Given the description of an element on the screen output the (x, y) to click on. 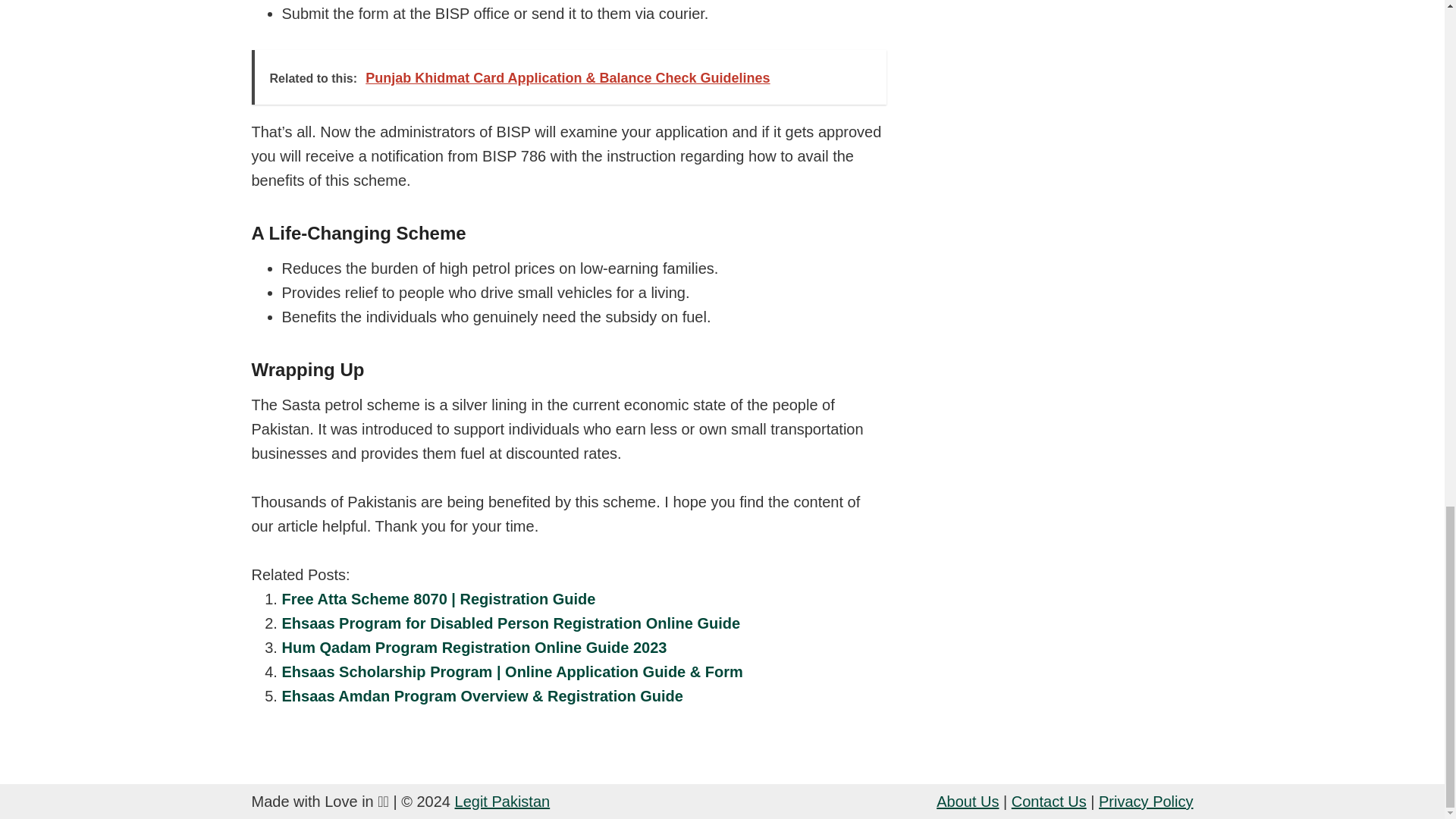
Hum Qadam Program Registration Online Guide 2023 (474, 647)
Hum Qadam Program Registration Online Guide 2023 (474, 647)
Privacy Policy (1145, 801)
Ehsaas Program for Disabled Person Registration Online Guide (511, 623)
Legit Pakistan (502, 801)
Ehsaas Program for Disabled Person Registration Online Guide (511, 623)
About Us (967, 801)
Contact Us (1048, 801)
